Given the description of an element on the screen output the (x, y) to click on. 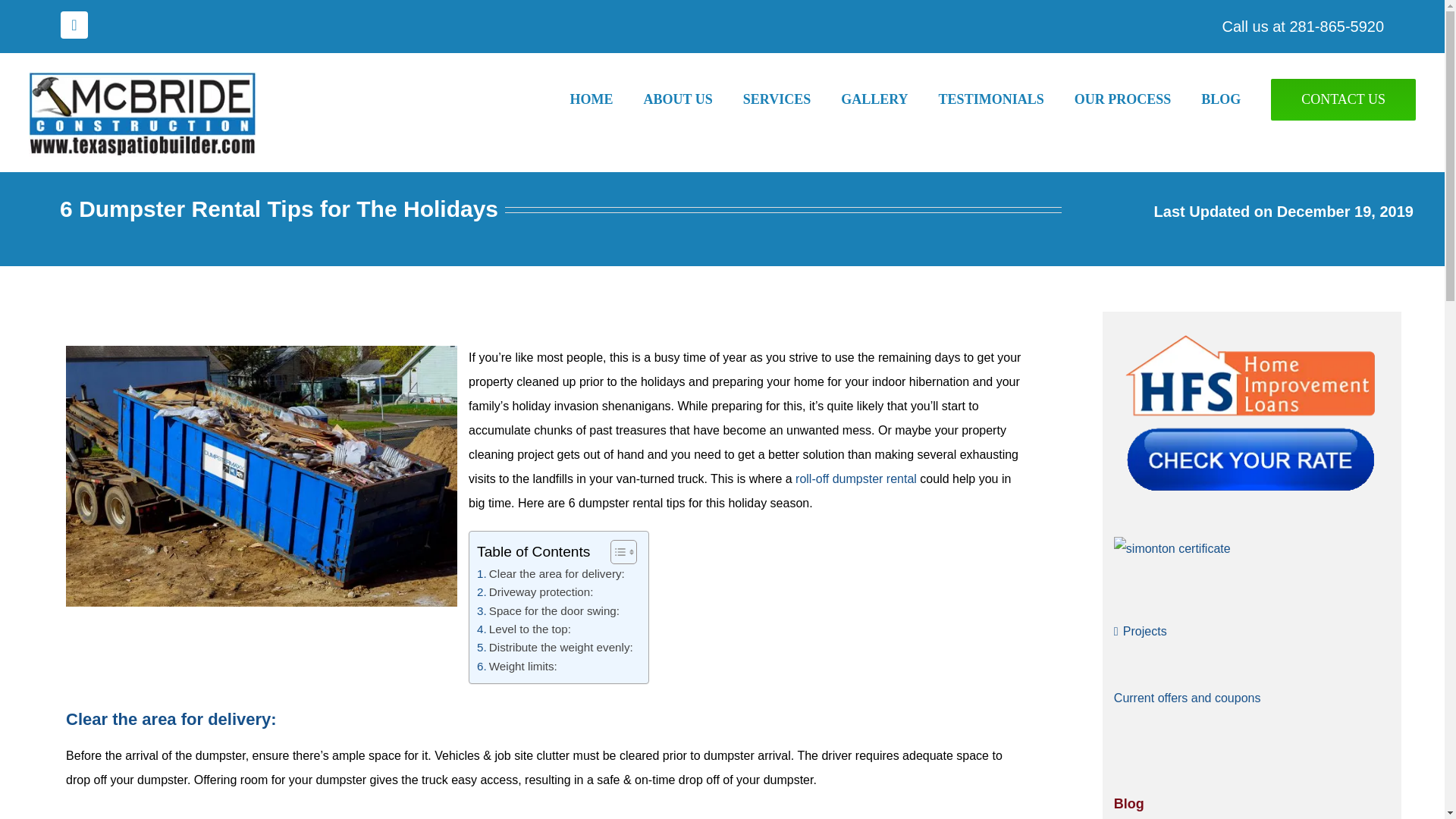
Weight limits: (517, 666)
roll-off dumpster rental (855, 478)
Space for the door swing: (548, 610)
Clear the area for delivery: (550, 574)
Space for the door swing: (548, 610)
SERVICES (791, 99)
ABOUT US (692, 99)
OUR PROCESS (1138, 99)
281-865-5920 (1336, 26)
Weight limits: (517, 666)
